Given the description of an element on the screen output the (x, y) to click on. 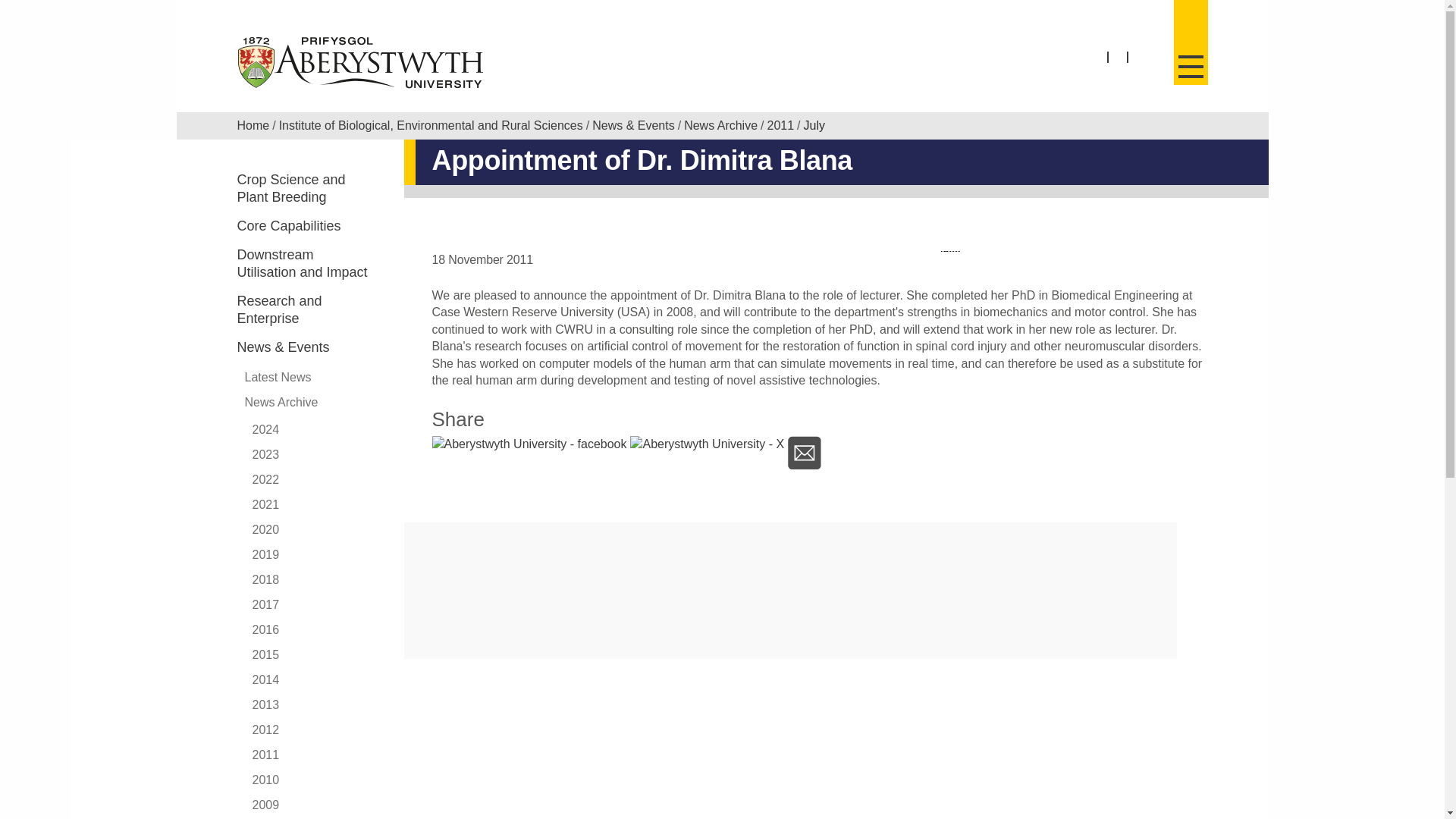
Newid iaith i Gymraeg (1117, 57)
Aberystwyth University homepage (360, 62)
Search (1147, 66)
